Given the description of an element on the screen output the (x, y) to click on. 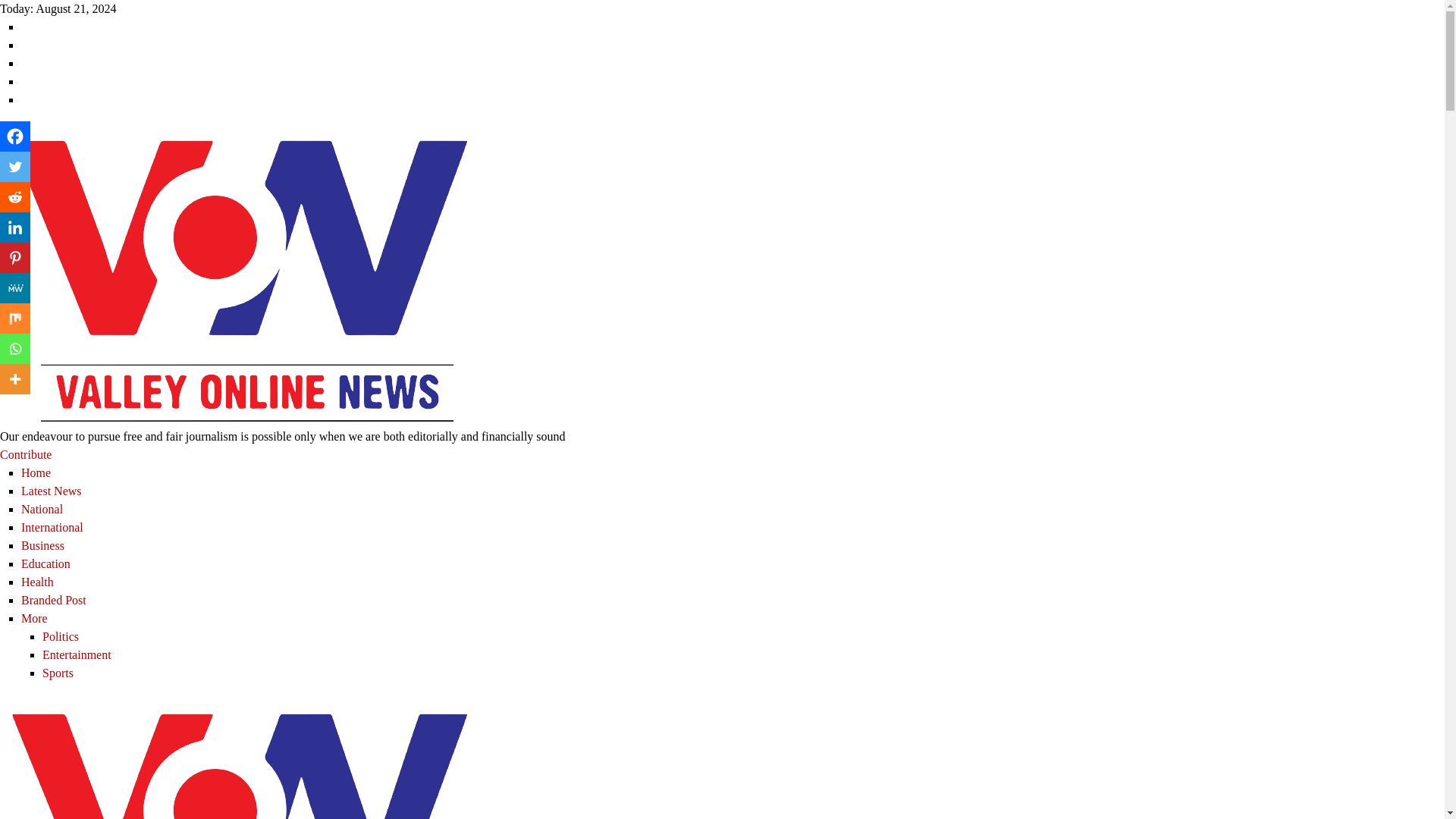
Home (35, 472)
National (41, 508)
Sports (58, 672)
Health (37, 581)
Whatsapp (15, 348)
Latest News (51, 490)
Twitter (15, 166)
Reddit (15, 196)
Education (45, 563)
More (34, 617)
